Given the description of an element on the screen output the (x, y) to click on. 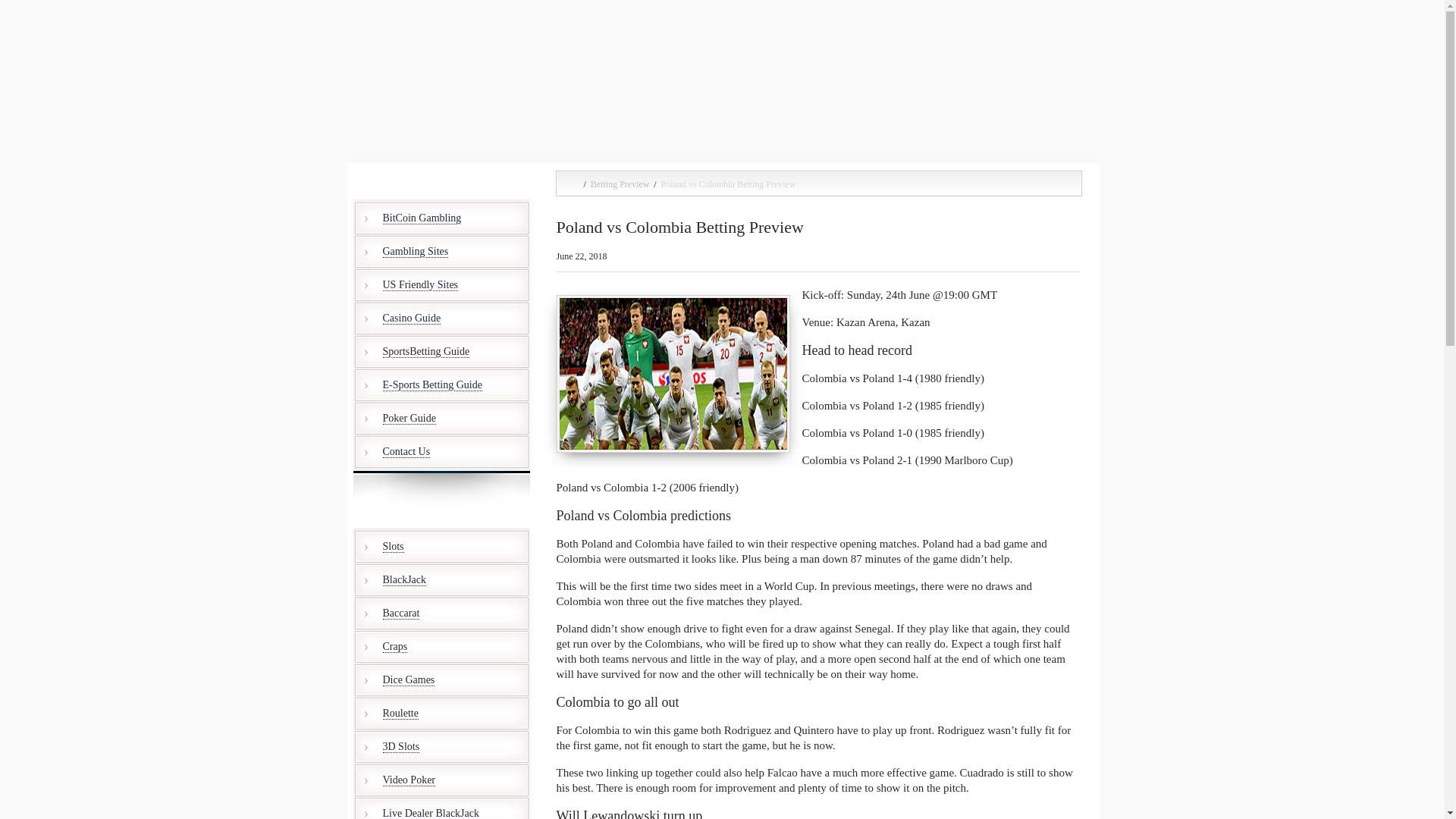
Slots (441, 546)
Craps (441, 646)
Video Poker (441, 779)
Casino Guide (441, 317)
Poker Guide (441, 418)
SportsBetting Guide (441, 351)
BlackJack (441, 579)
Gambling Sites (441, 251)
US Friendly Sites (441, 285)
Contact Us (441, 451)
